Given the description of an element on the screen output the (x, y) to click on. 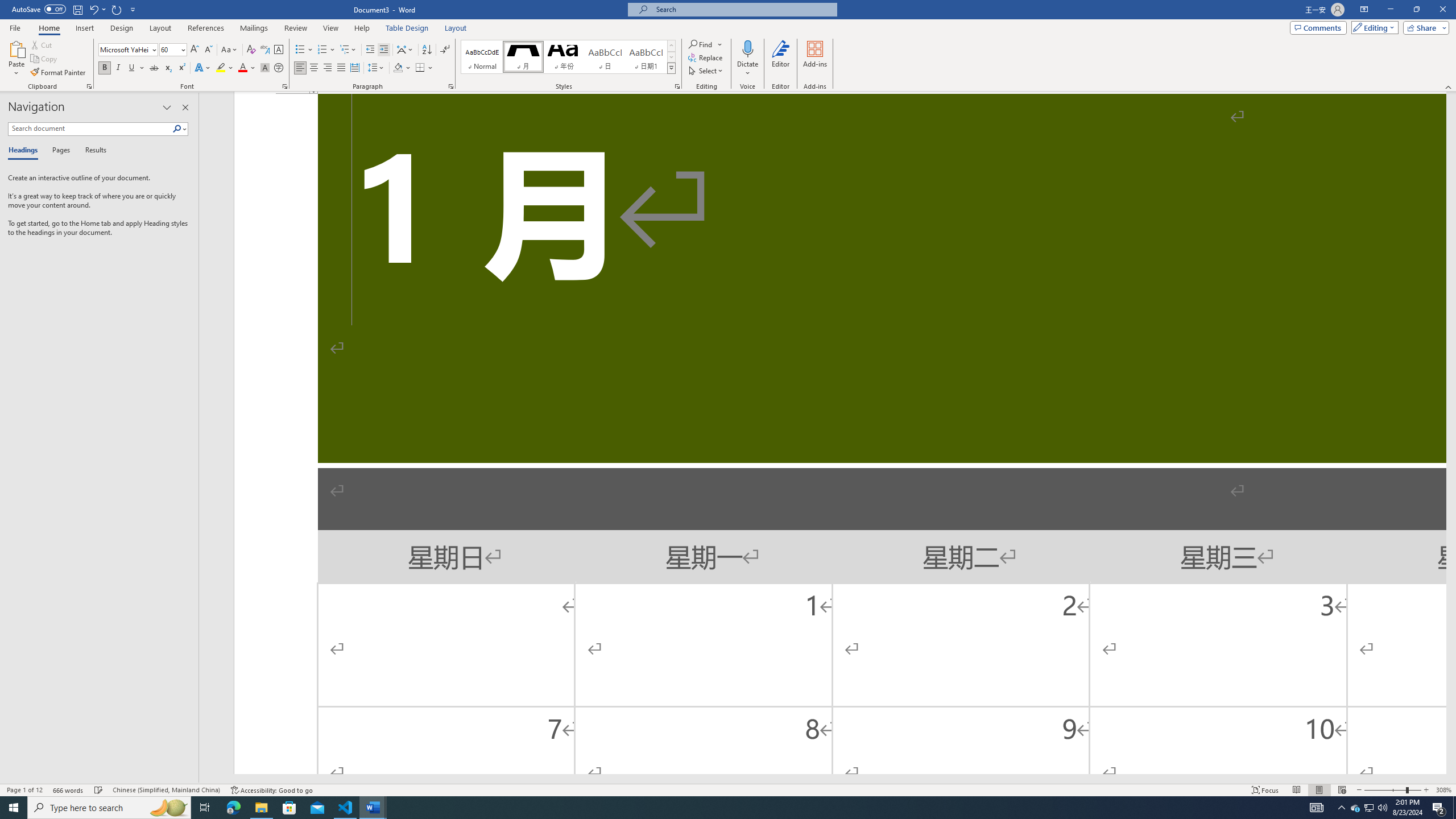
Font Color RGB(255, 0, 0) (241, 67)
Undo Increase Indent (96, 9)
Undo Increase Indent (92, 9)
